Given the description of an element on the screen output the (x, y) to click on. 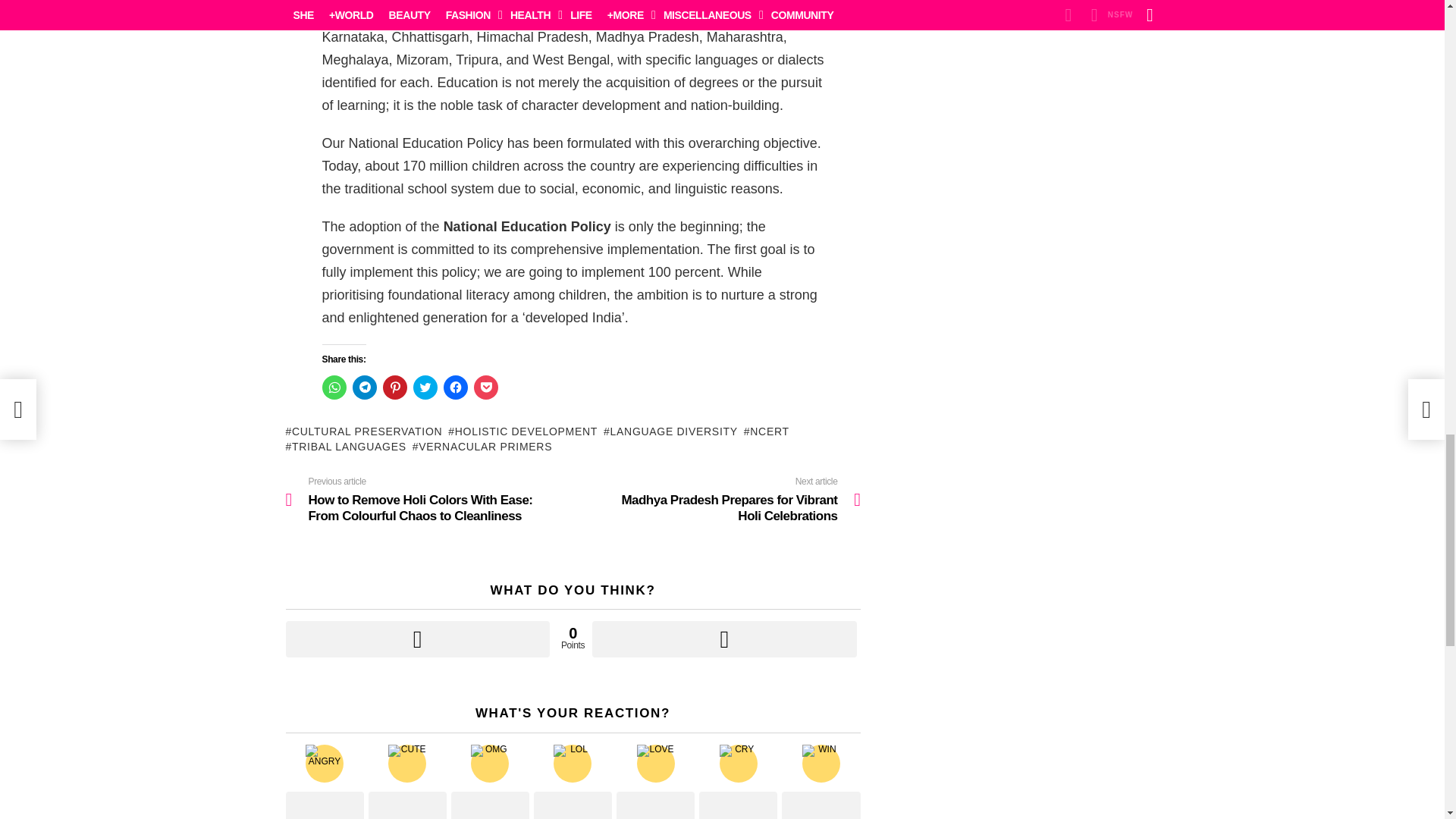
Click to share on Pinterest (393, 387)
Click to share on WhatsApp (333, 387)
Click to share on Twitter (424, 387)
Click to share on Telegram (363, 387)
